Given the description of an element on the screen output the (x, y) to click on. 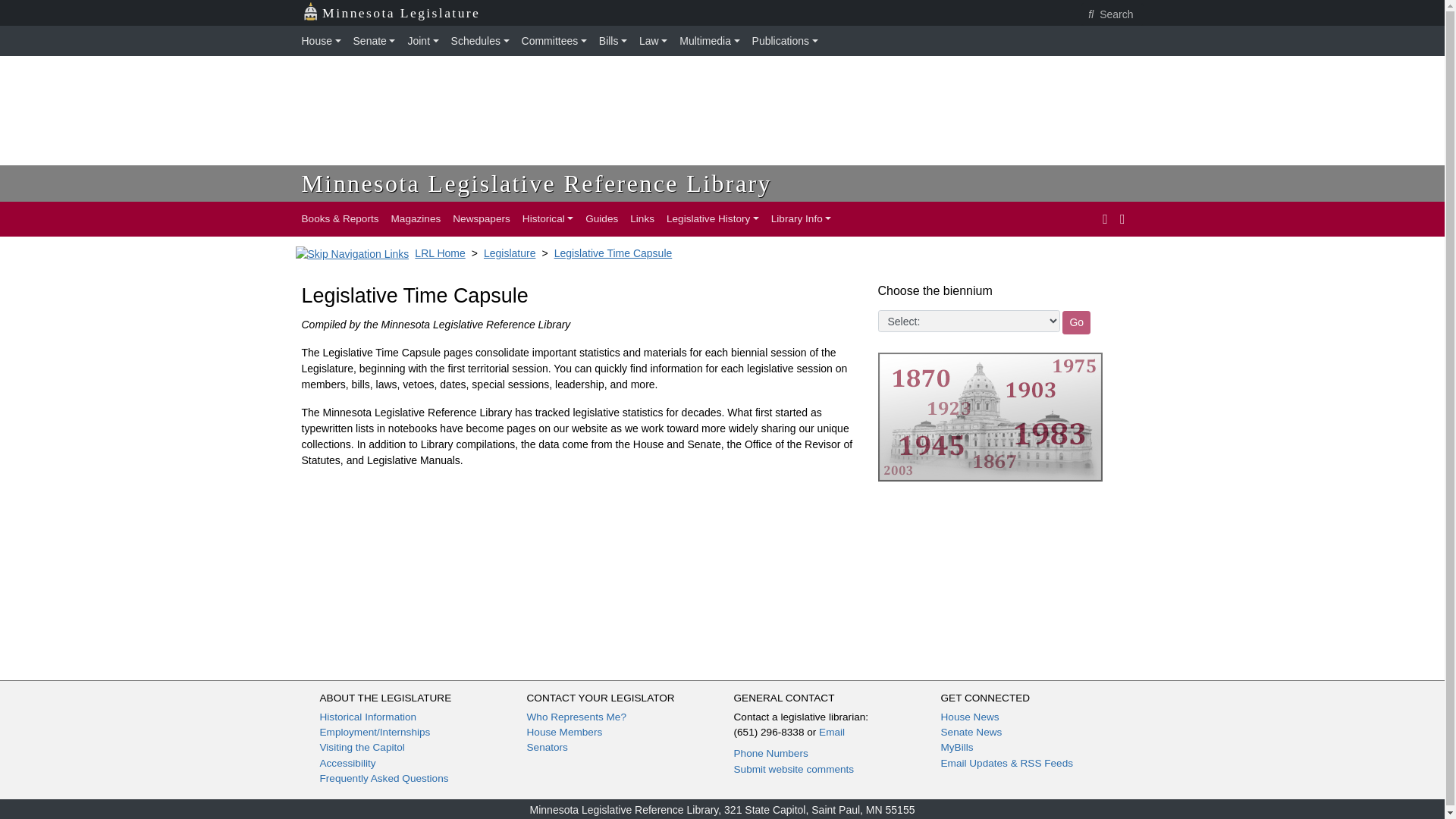
LRL Home (439, 253)
Legislature (509, 253)
Minnesota Legislature (390, 12)
Legislative Time Capsule (613, 253)
House (324, 40)
Search (1111, 14)
Senate (374, 40)
Go (1076, 322)
